Given the description of an element on the screen output the (x, y) to click on. 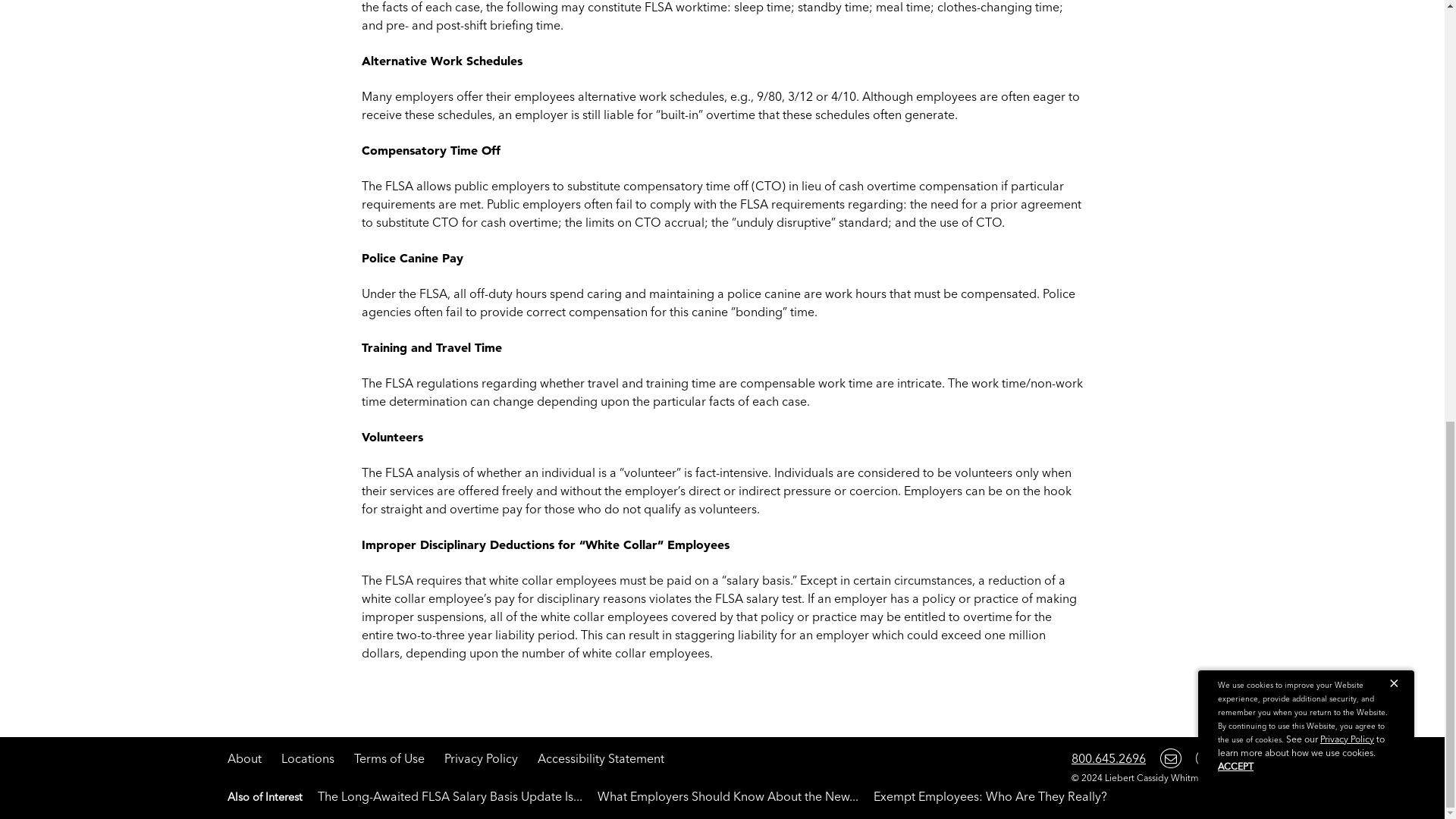
800.645.2696 (1108, 758)
Accessibility Statement (600, 758)
Privacy Policy (481, 758)
About (244, 758)
Terms of Use (389, 758)
Locations (307, 758)
